Given the description of an element on the screen output the (x, y) to click on. 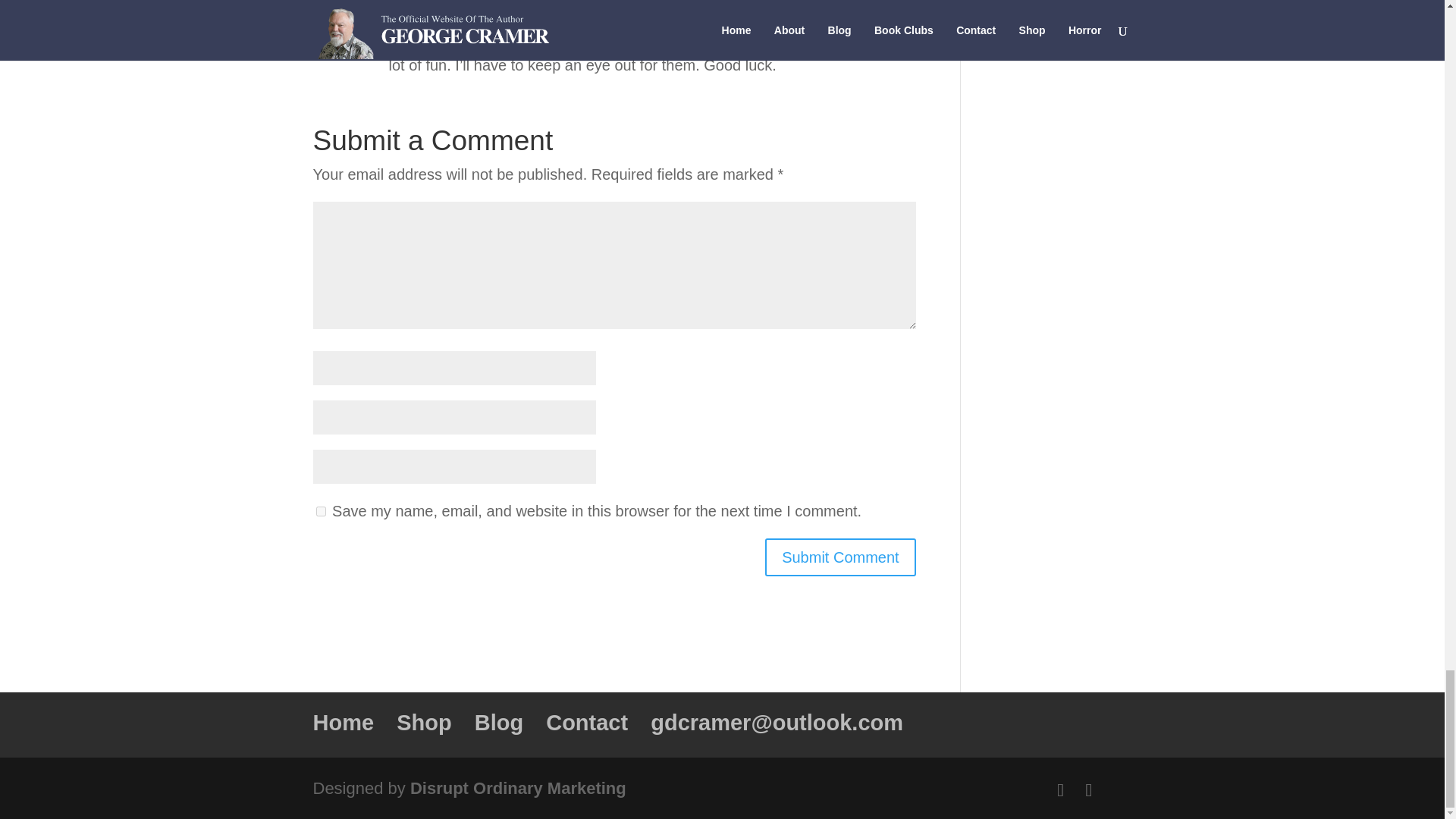
yes (319, 511)
Submit Comment (840, 557)
Reply (879, 11)
